Given the description of an element on the screen output the (x, y) to click on. 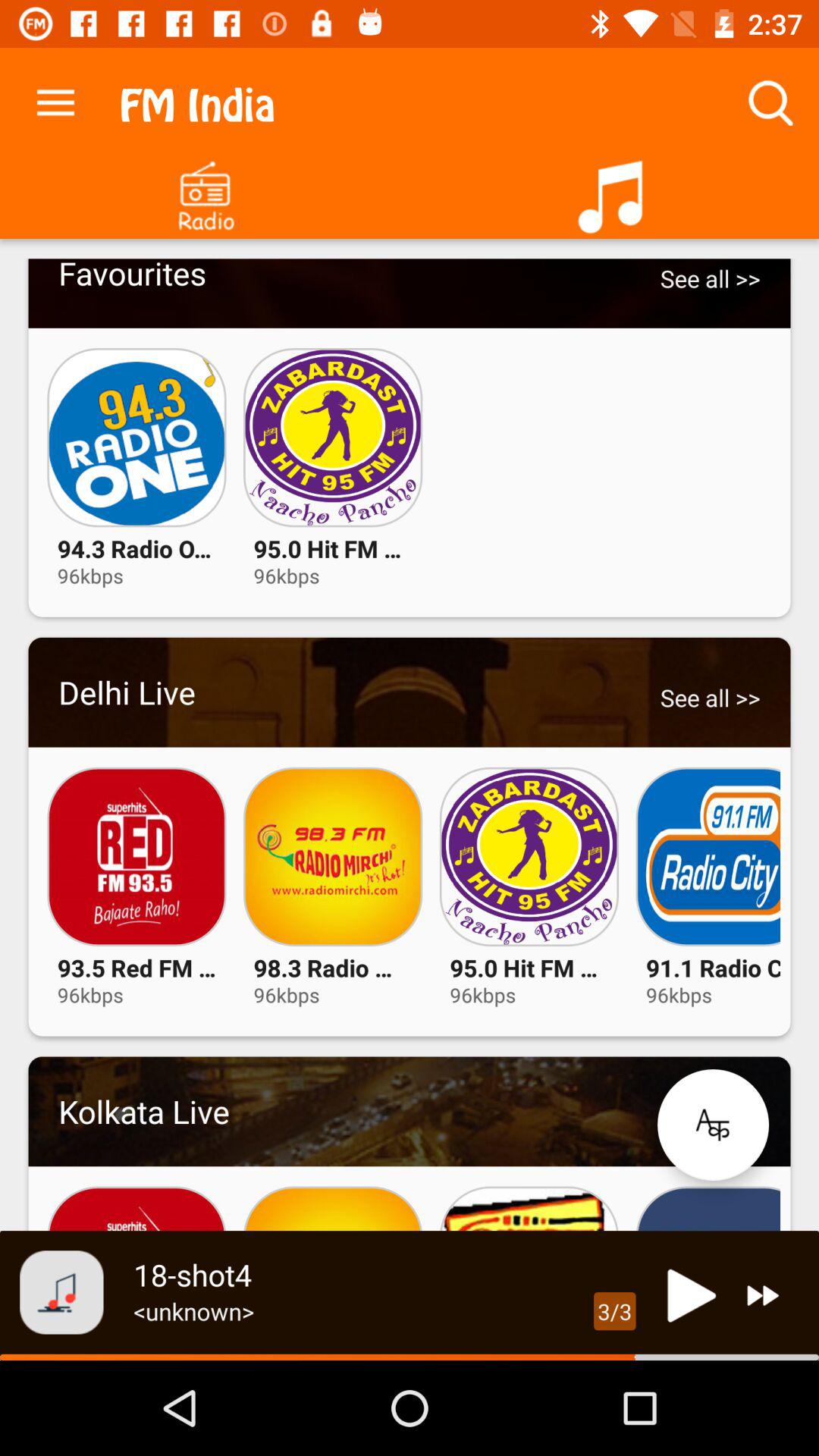
press the icon below 96kbps item (712, 1124)
